Given the description of an element on the screen output the (x, y) to click on. 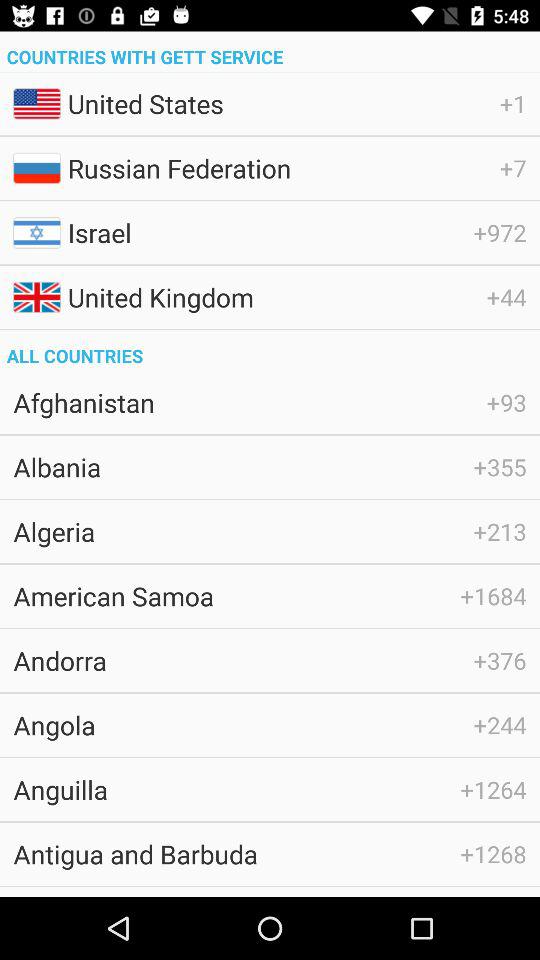
go to left of israel (36, 232)
